Given the description of an element on the screen output the (x, y) to click on. 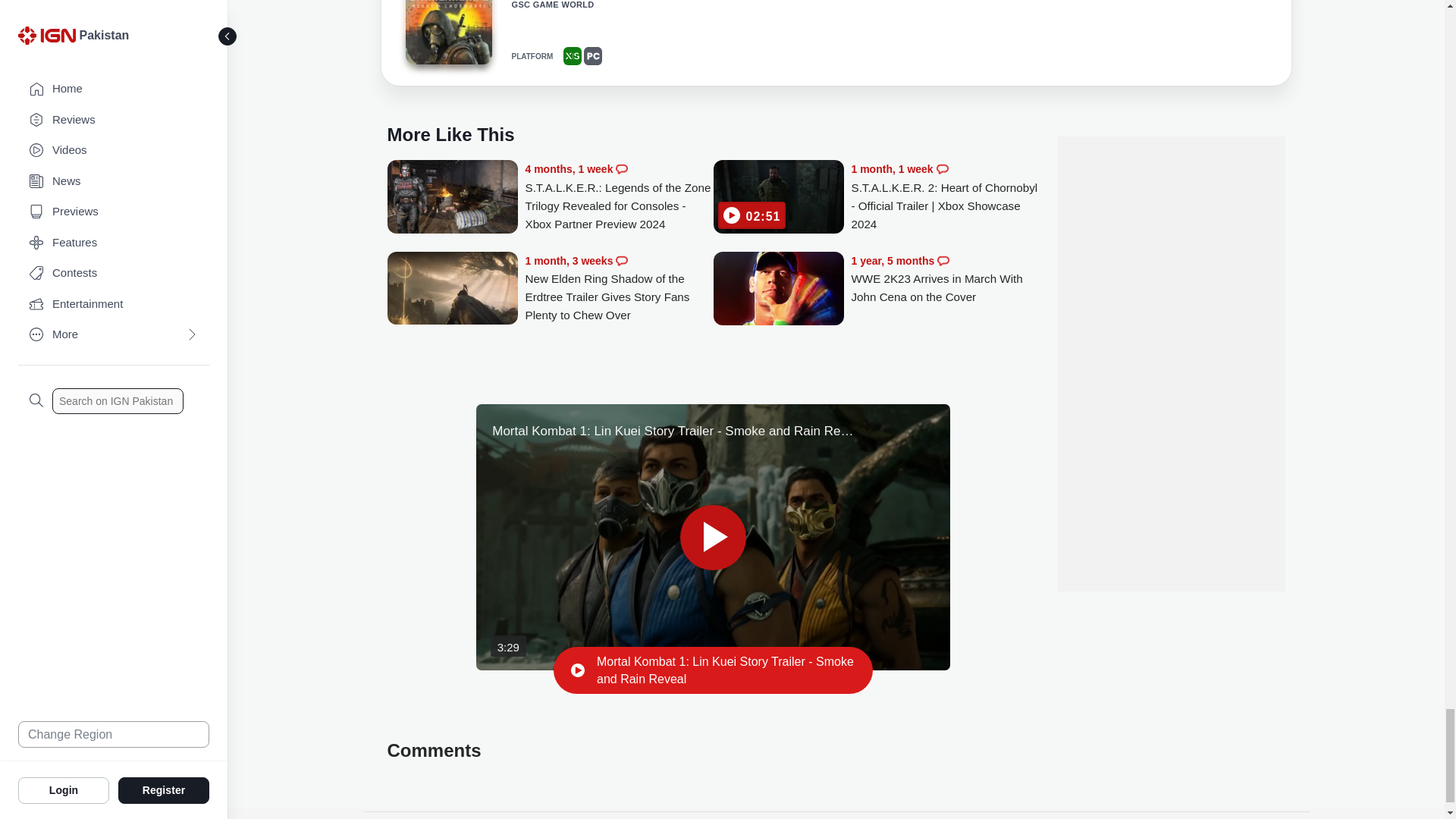
Comments (621, 168)
Comments (942, 168)
PC (592, 55)
S.T.A.L.K.E.R. 2: Heart of Chernobyl (448, 32)
S.T.A.L.K.E.R. 2: Heart of Chernobyl (448, 34)
WWE 2K23 Arrives in March With John Cena on the Cover (944, 279)
WWE 2K23 Arrives in March With John Cena on the Cover (778, 289)
XBOXSERIES (571, 55)
